Given the description of an element on the screen output the (x, y) to click on. 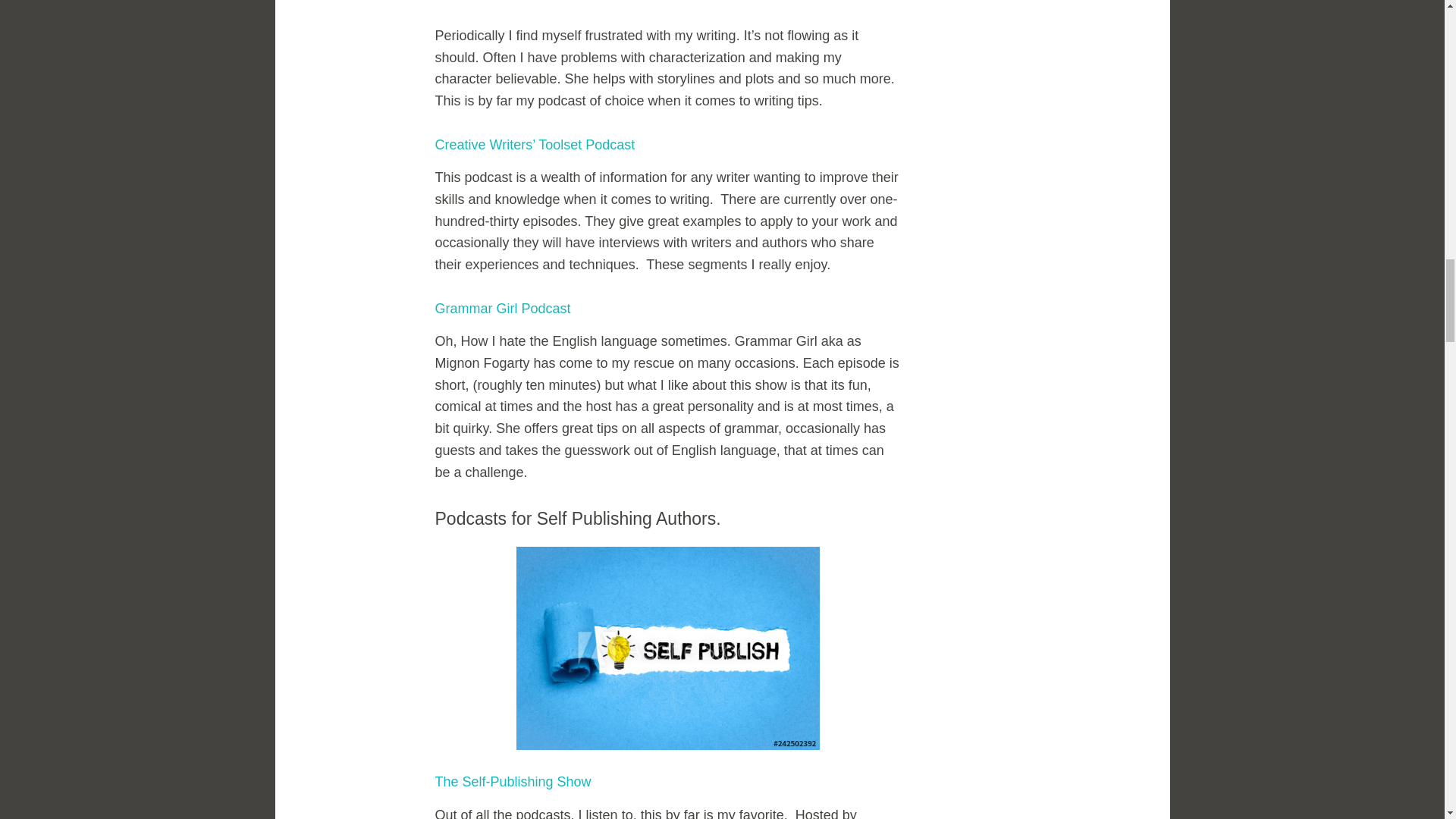
Grammar Girl Podcast  (505, 308)
The Self-Publishing Show (513, 781)
